Given the description of an element on the screen output the (x, y) to click on. 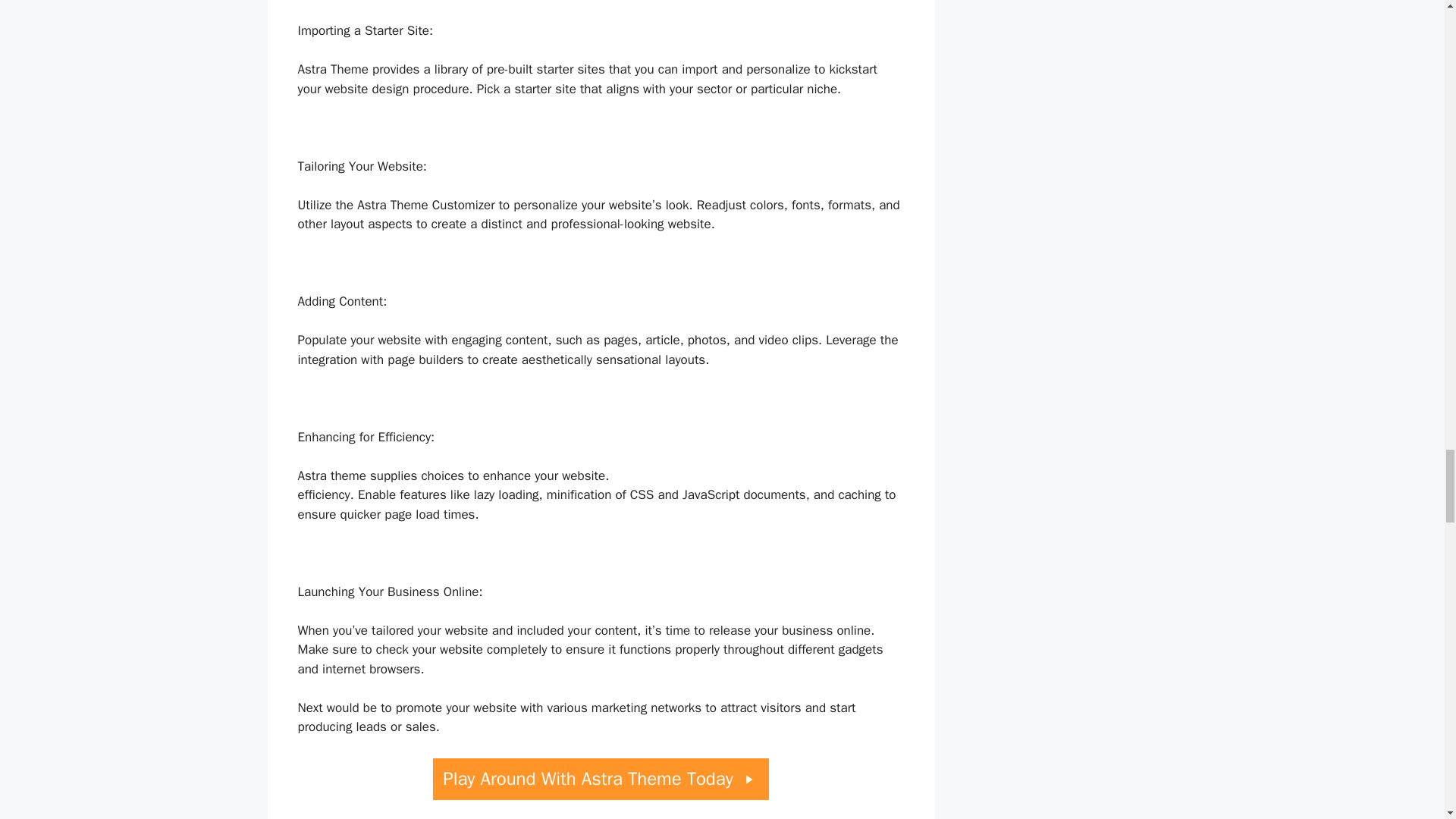
Play Around With Astra Theme Today (600, 779)
